Given the description of an element on the screen output the (x, y) to click on. 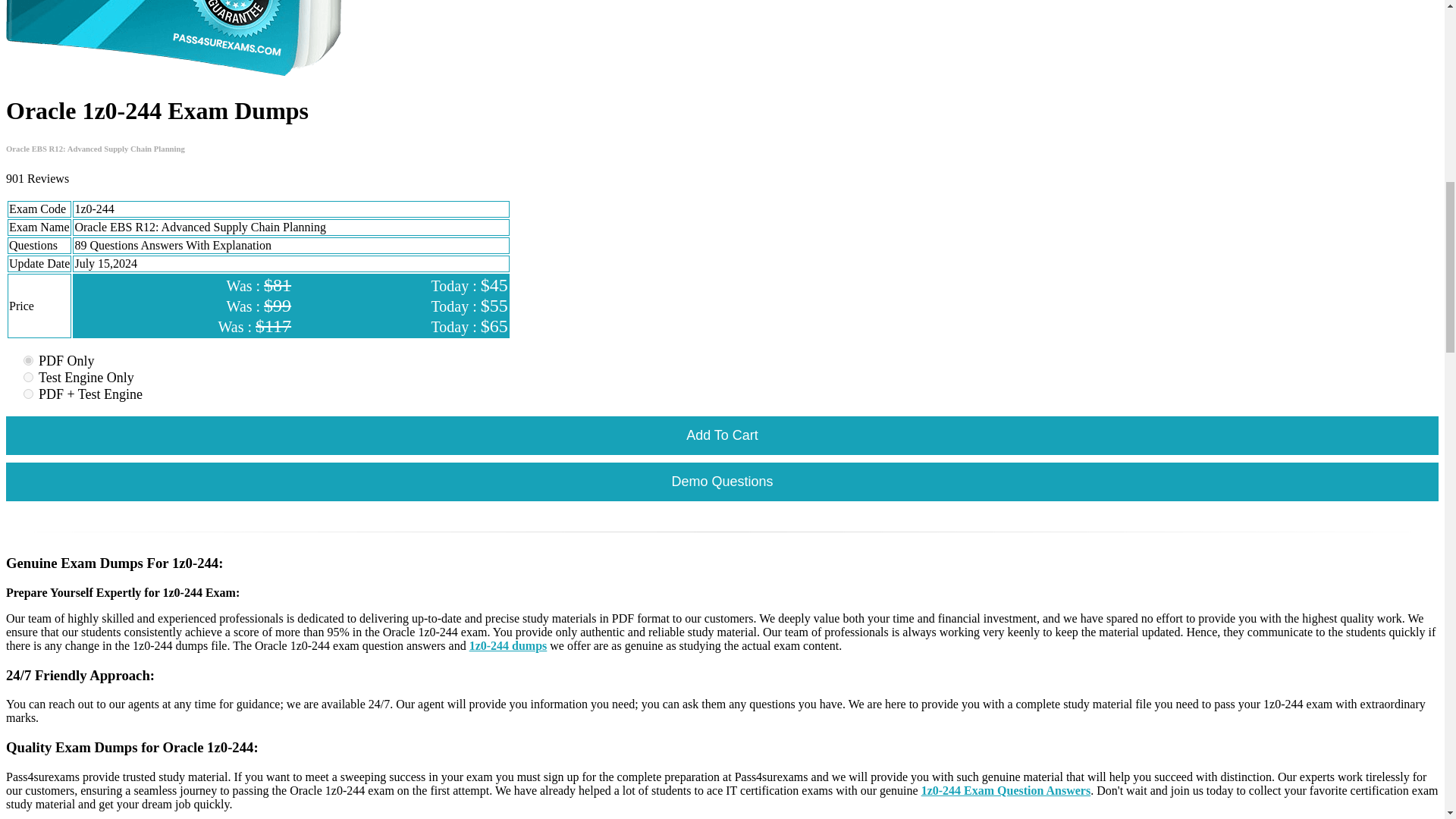
Oracle 1z0-244 dumps (174, 38)
1z0-244 dumps (507, 645)
PDF Only (28, 360)
Test Engine Only (28, 377)
1z0-244 Exam Question Answers (1005, 789)
